Given the description of an element on the screen output the (x, y) to click on. 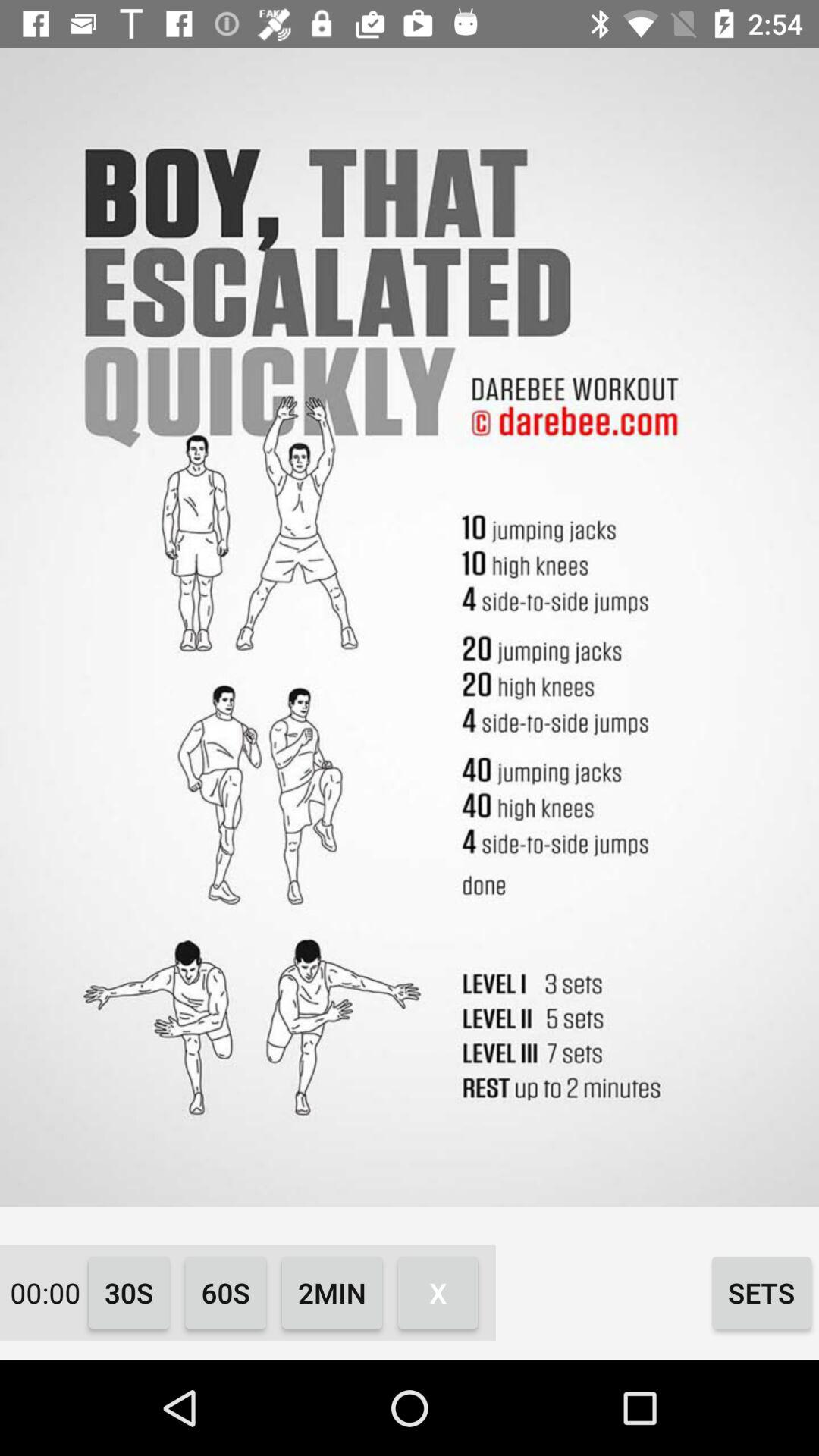
turn on the icon next to the 00:00 (128, 1292)
